Given the description of an element on the screen output the (x, y) to click on. 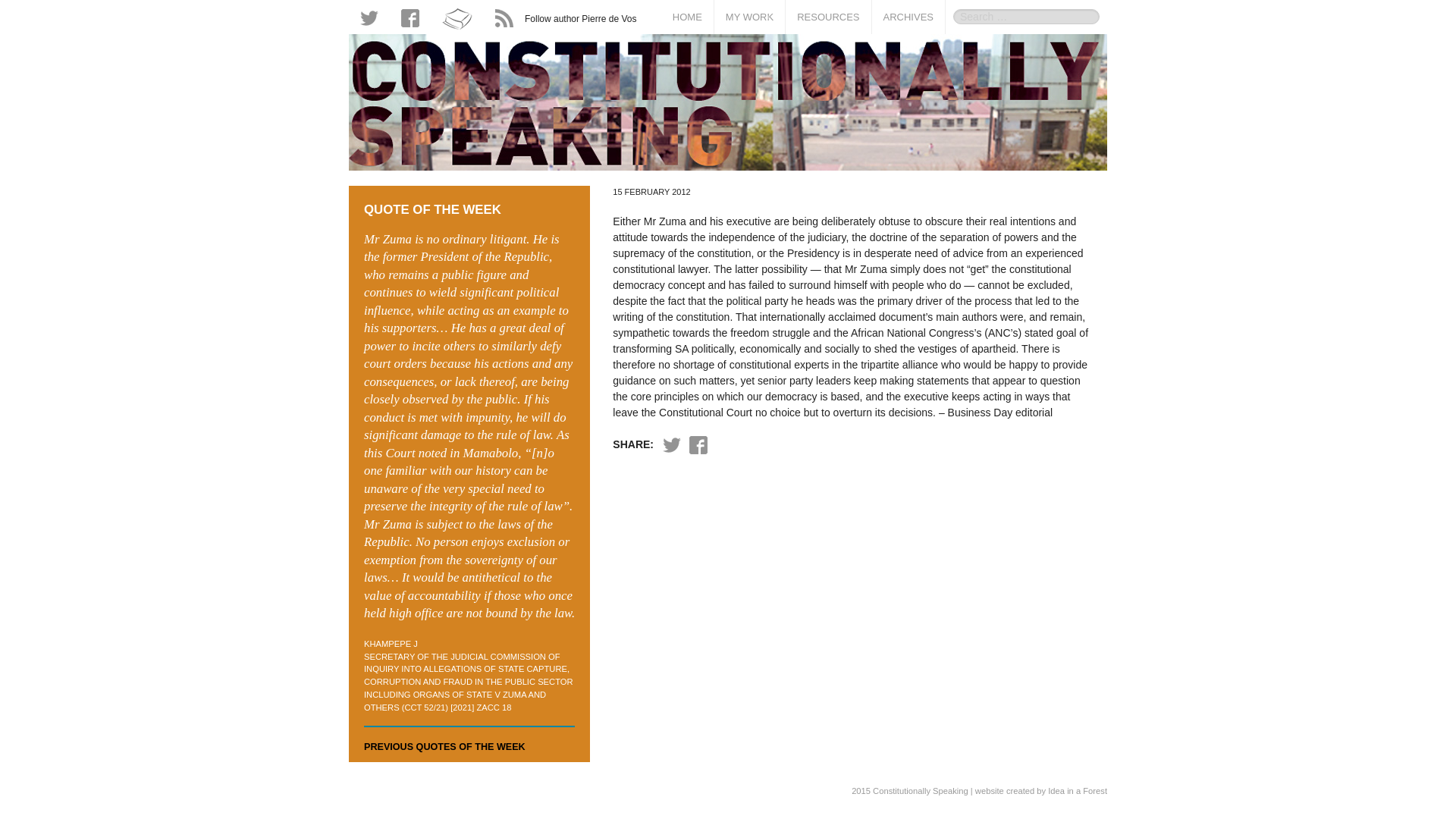
ARCHIVES (908, 17)
Bill of Rights (827, 45)
MY WORK (749, 17)
Conference Papers (749, 90)
Books (749, 45)
HOME (687, 17)
Events (827, 90)
RESOURCES (828, 17)
Seminar Room (827, 113)
Publications (749, 67)
Documents (827, 67)
Search for: (1026, 16)
PREVIOUS QUOTES OF THE WEEK (444, 747)
